Given the description of an element on the screen output the (x, y) to click on. 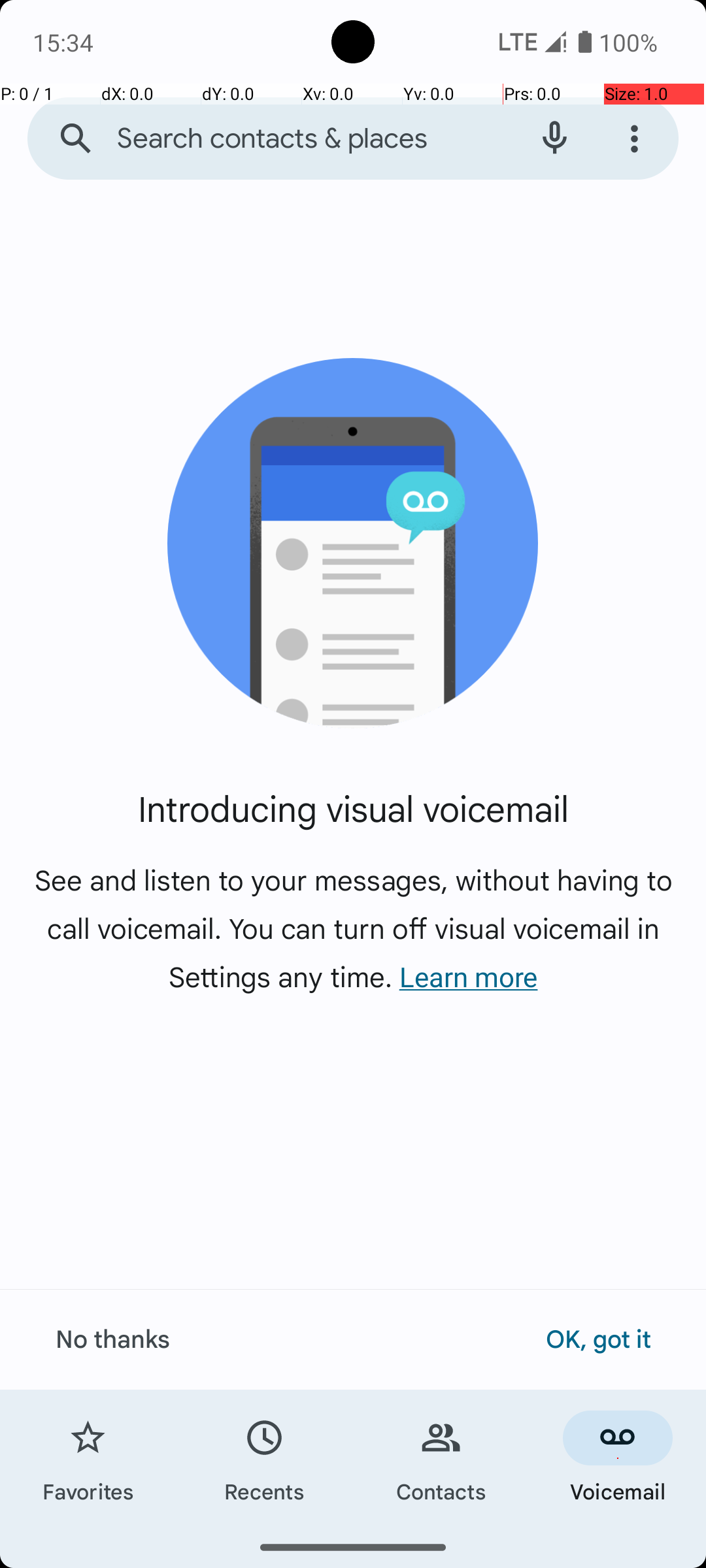
OK, got it Element type: android.widget.TextView (597, 1337)
Voicemail Element type: android.widget.FrameLayout (617, 1457)
Introducing visual voicemail Element type: android.widget.TextView (352, 807)
See and listen to your messages, without having to call voicemail. You can turn off visual voicemail in Settings any time. Learn more Element type: android.widget.TextView (352, 927)
